Given the description of an element on the screen output the (x, y) to click on. 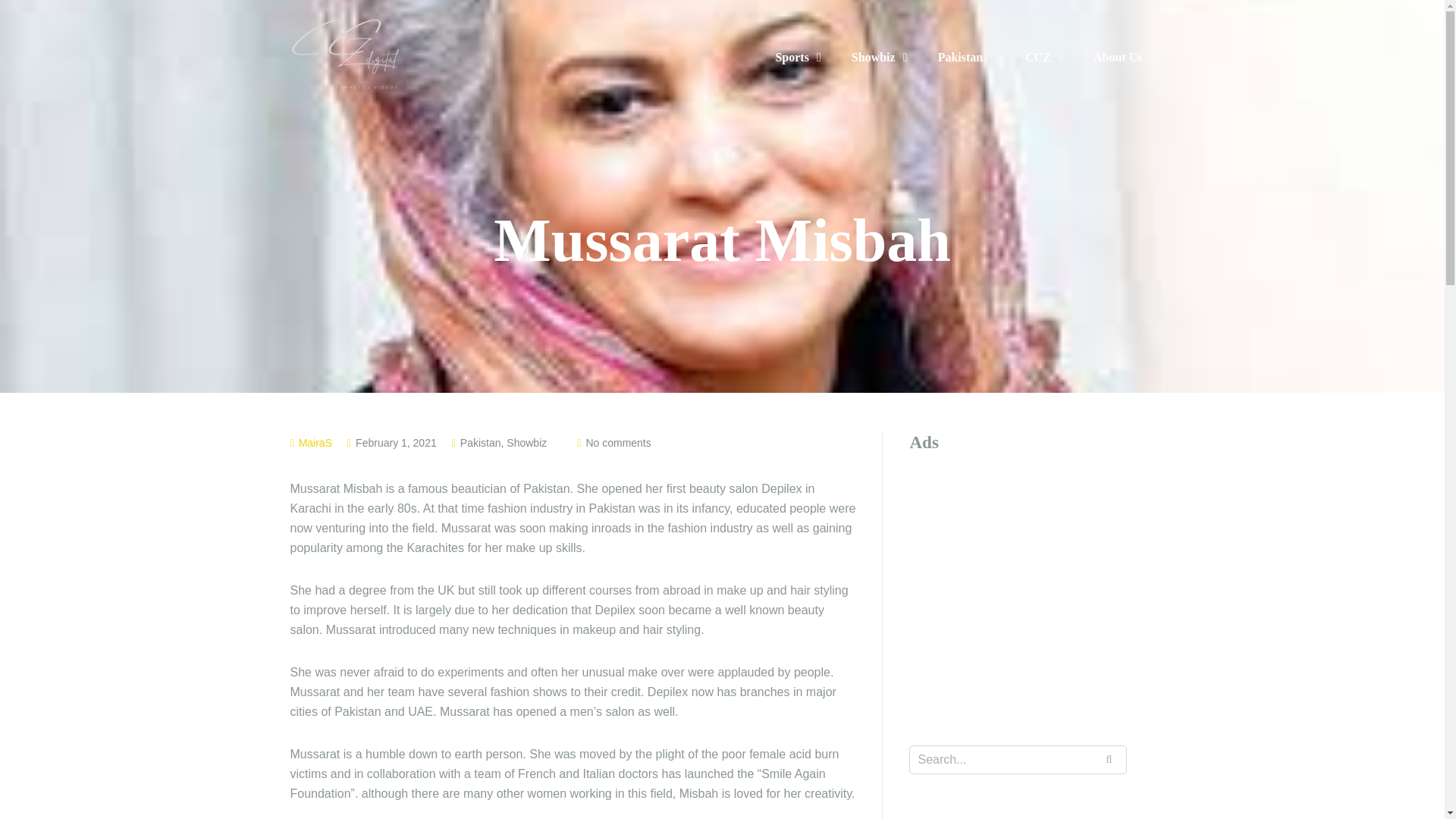
ContentCreatorZ (346, 53)
Advertisement (1035, 576)
Sports (797, 57)
Pakistan (966, 57)
Showbiz (879, 57)
About Us (1123, 57)
CCZ (1043, 57)
Search for: (1017, 759)
